Given the description of an element on the screen output the (x, y) to click on. 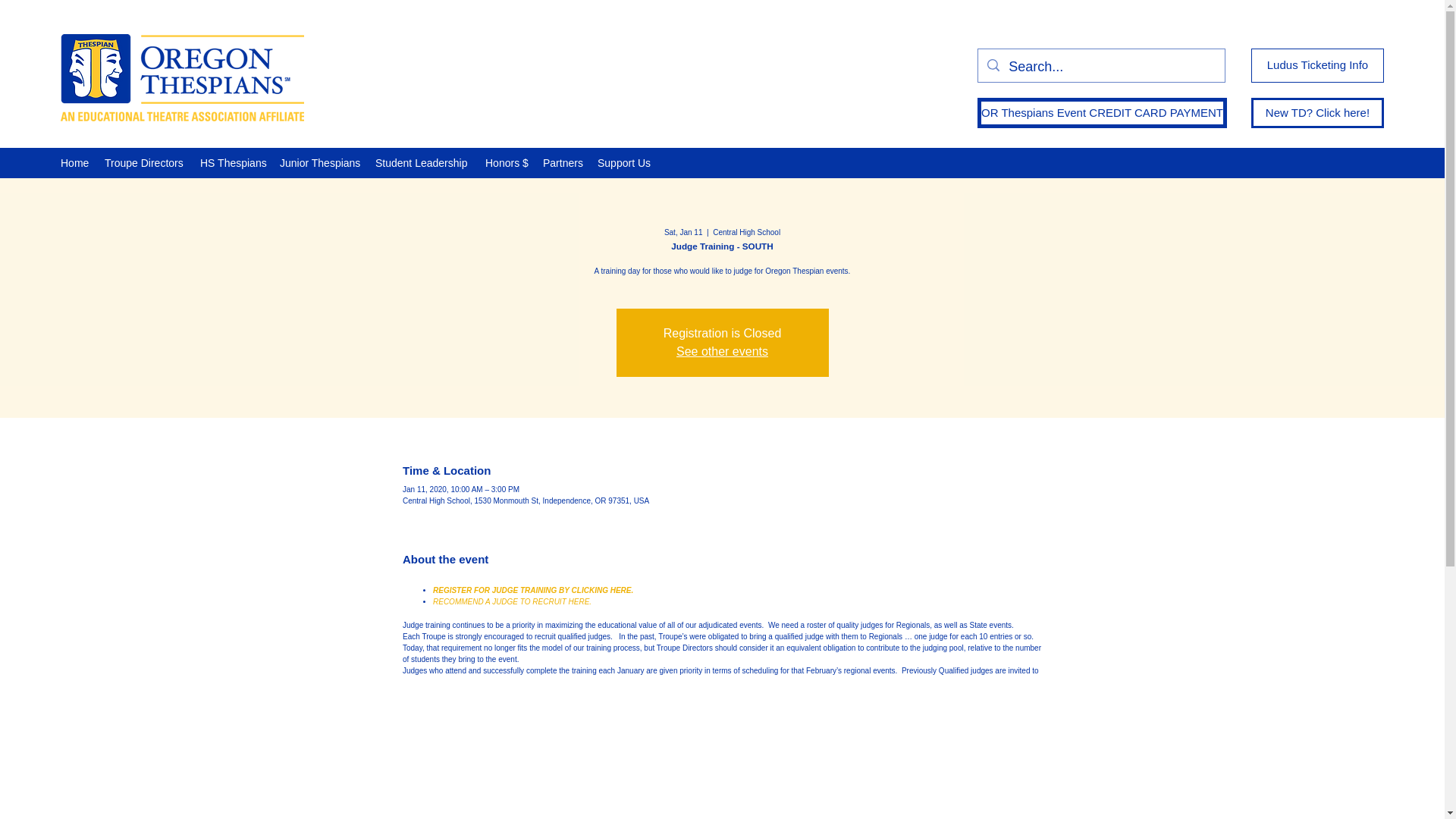
Partners (562, 162)
Home (74, 162)
REGISTER FOR JUDGE TRAINING BY CLICKING HERE. (532, 590)
Student Leadership (422, 162)
See other events (722, 350)
New TD? Click here! (1317, 112)
Support Us (624, 162)
RECOMMEND A JUDGE TO RECRUIT HERE. (511, 601)
Troupe Directors (144, 162)
Ludus Ticketing Info (1317, 65)
HS Thespians (232, 162)
Junior Thespians (320, 162)
OR Thespians Event CREDIT CARD PAYMENT (1101, 112)
